Given the description of an element on the screen output the (x, y) to click on. 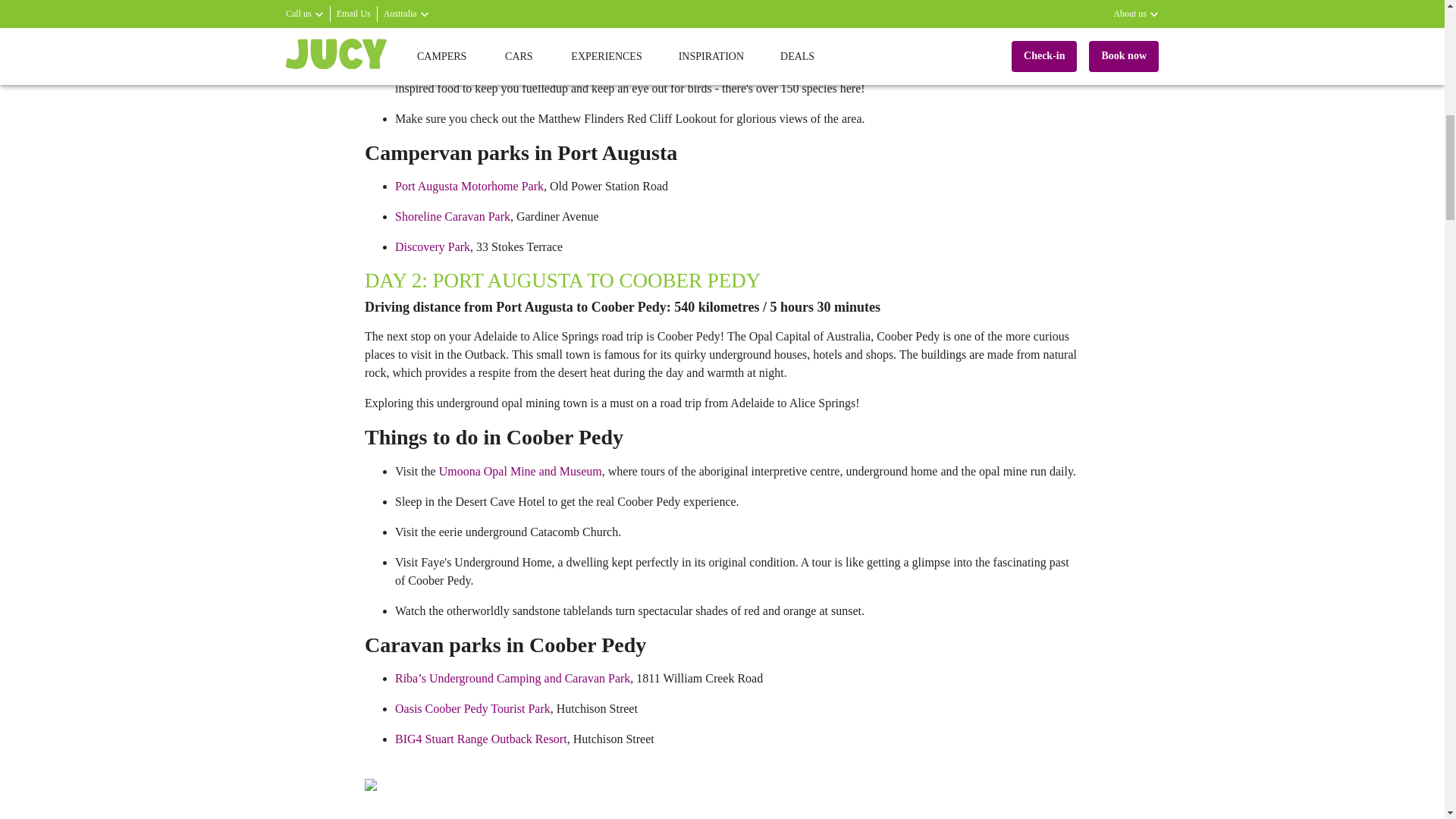
Discovery Park (432, 246)
Umoona Opal Mine and Museum (520, 471)
BIG4 Stuart Range Outback Resort (480, 738)
Port Augusta Motorhome Park (468, 185)
Shoreline Caravan Park (452, 215)
Oasis Coober Pedy Tourist Park (472, 707)
road trip itinerary adelaide to alice spring 1 (644, 798)
